Given the description of an element on the screen output the (x, y) to click on. 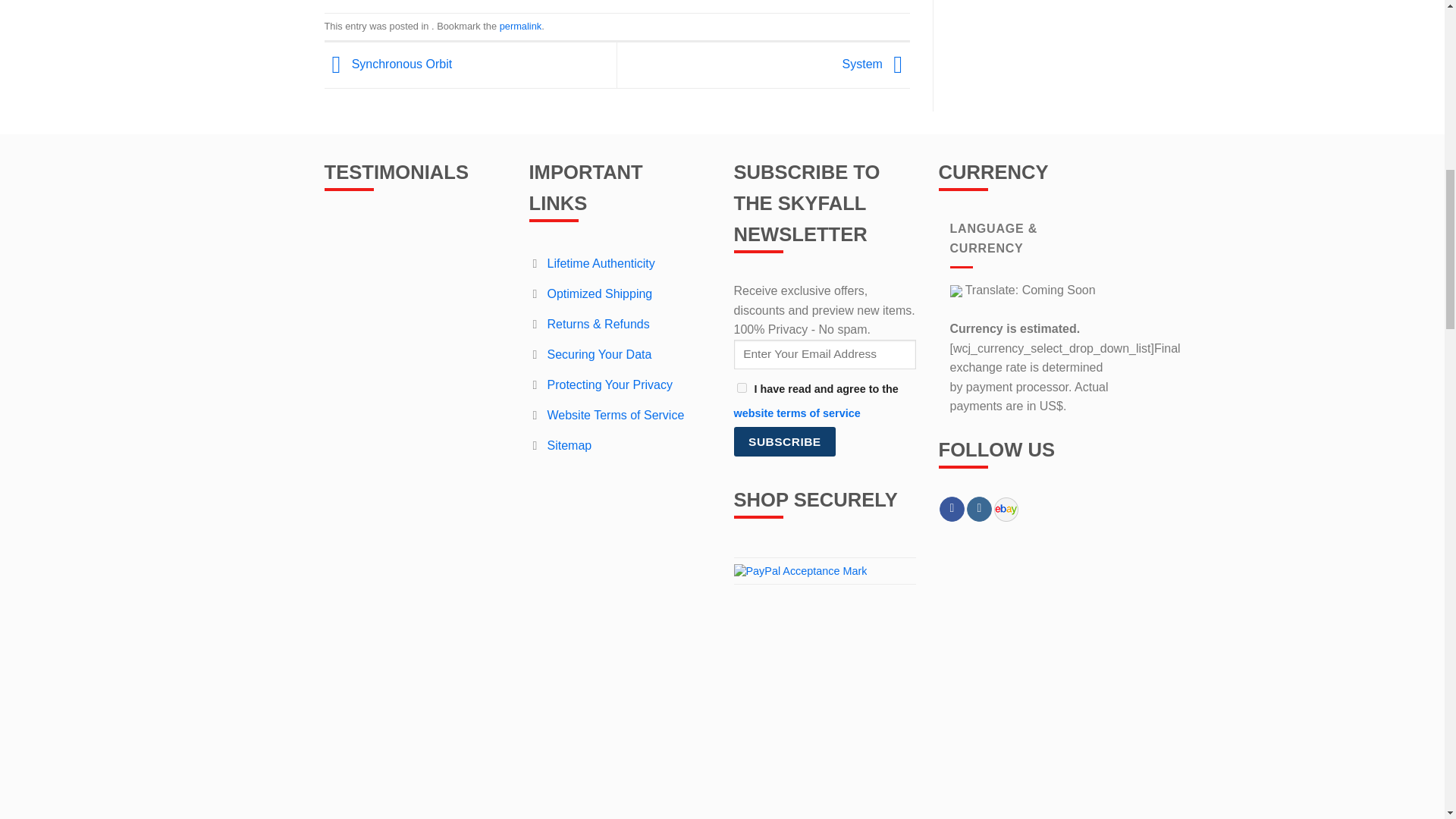
1 (741, 388)
Permalink to Synchrotron Emission (520, 25)
How PayPal Works (800, 570)
Follow on Instagram (978, 509)
Follow on Facebook (951, 509)
Follow on Ebay (1005, 509)
Subscribe (784, 441)
